Given the description of an element on the screen output the (x, y) to click on. 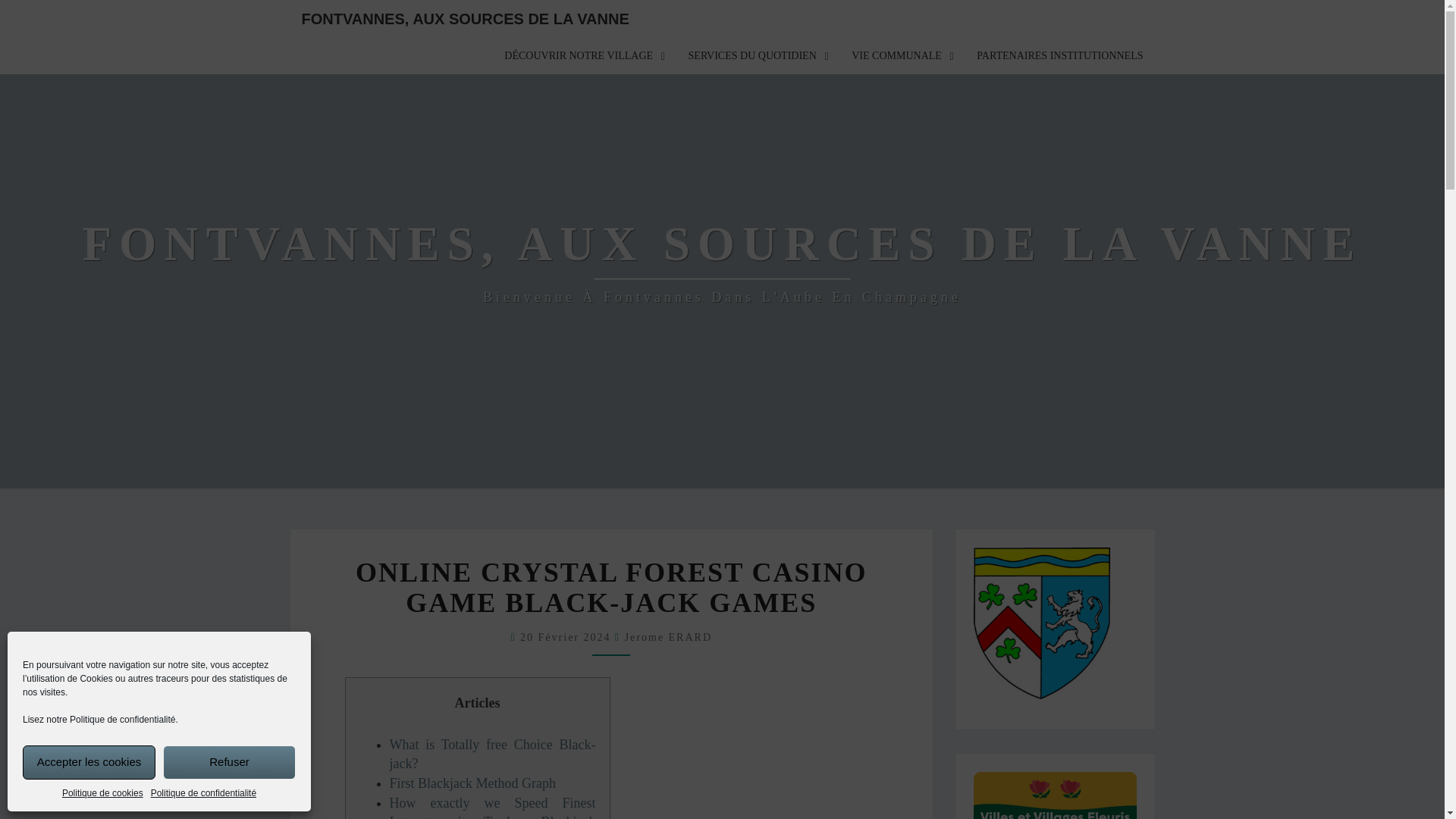
Fontvannes, aux sources de la Vanne (721, 262)
Voir tous les articles de  Jerome ERARD (667, 636)
SERVICES DU QUOTIDIEN (759, 55)
PARTENAIRES INSTITUTIONNELS (1059, 55)
Politique de cookies (102, 793)
VIE COMMUNALE (902, 55)
FONTVANNES, AUX SOURCES DE LA VANNE (464, 18)
Refuser (229, 762)
Accepter les cookies (89, 762)
5 h 56 min (566, 636)
